Given the description of an element on the screen output the (x, y) to click on. 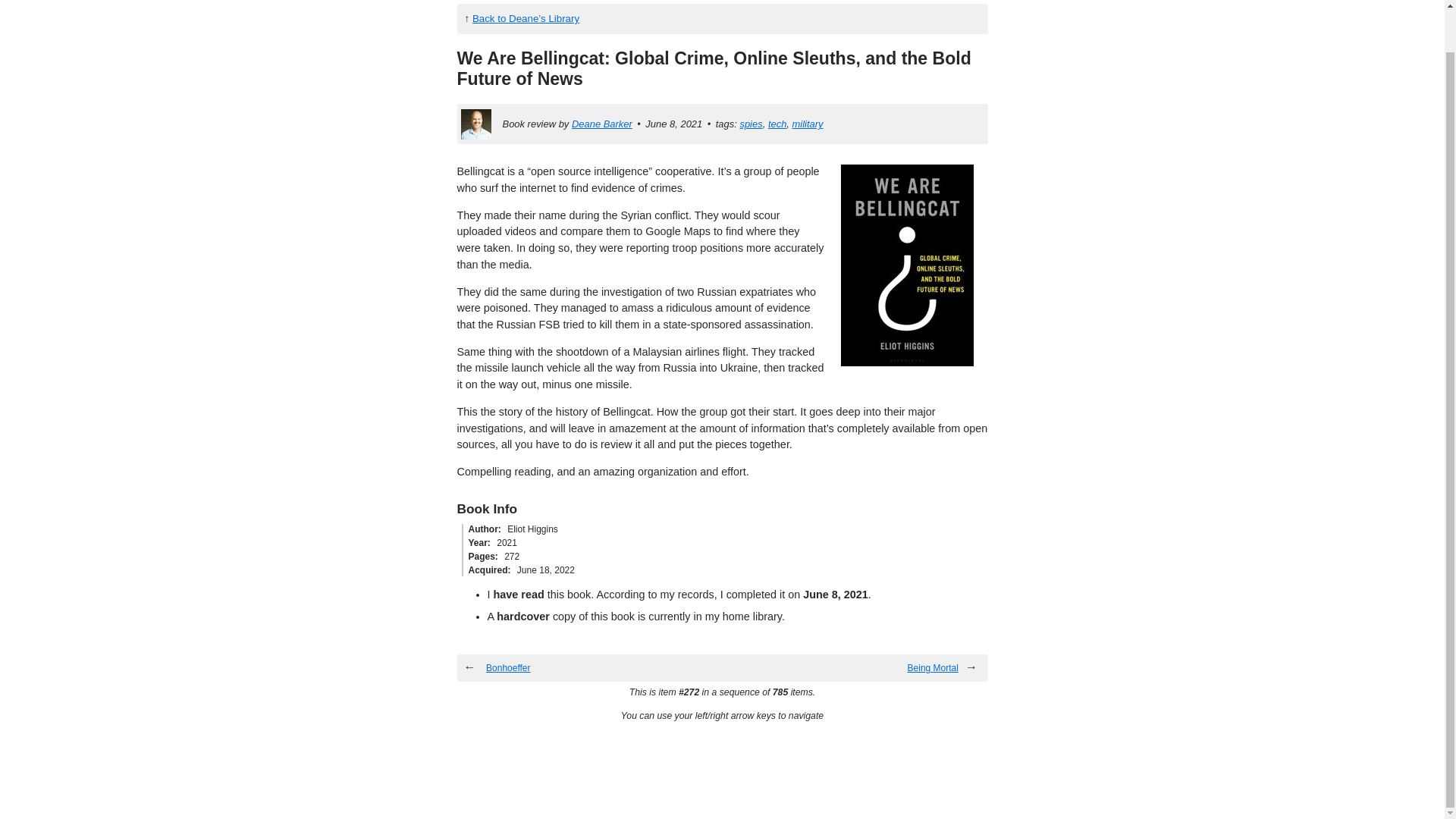
Bonhoeffer (508, 667)
Deane Barker (601, 123)
Being Mortal (932, 667)
spies (750, 123)
military (808, 123)
tech (777, 123)
